Given the description of an element on the screen output the (x, y) to click on. 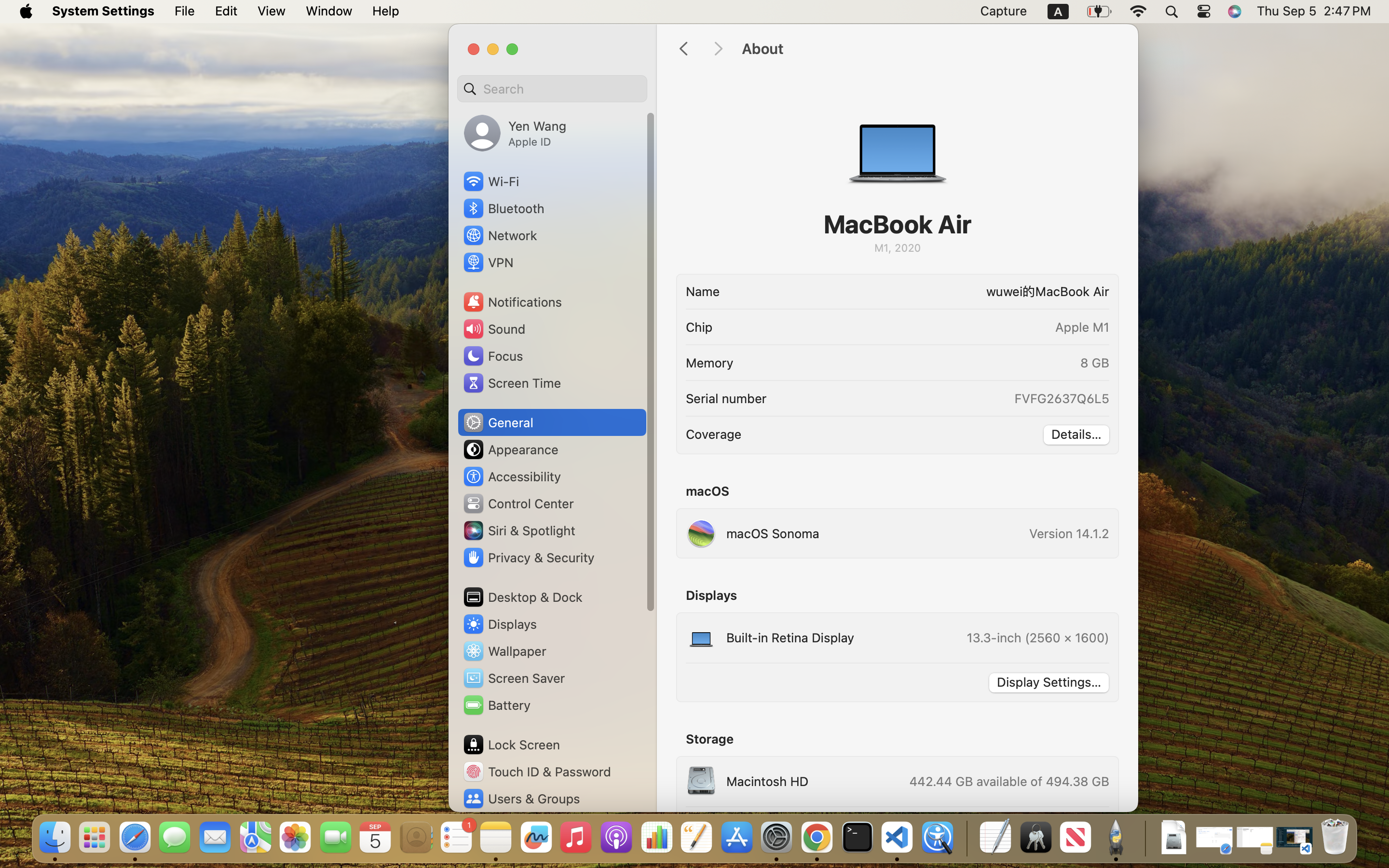
Privacy & Security Element type: AXStaticText (528, 557)
macOS Sonoma Element type: AXStaticText (752, 532)
Sound Element type: AXStaticText (493, 328)
Wi‑Fi Element type: AXStaticText (490, 180)
Apple M1 Element type: AXStaticText (1082, 326)
